Given the description of an element on the screen output the (x, y) to click on. 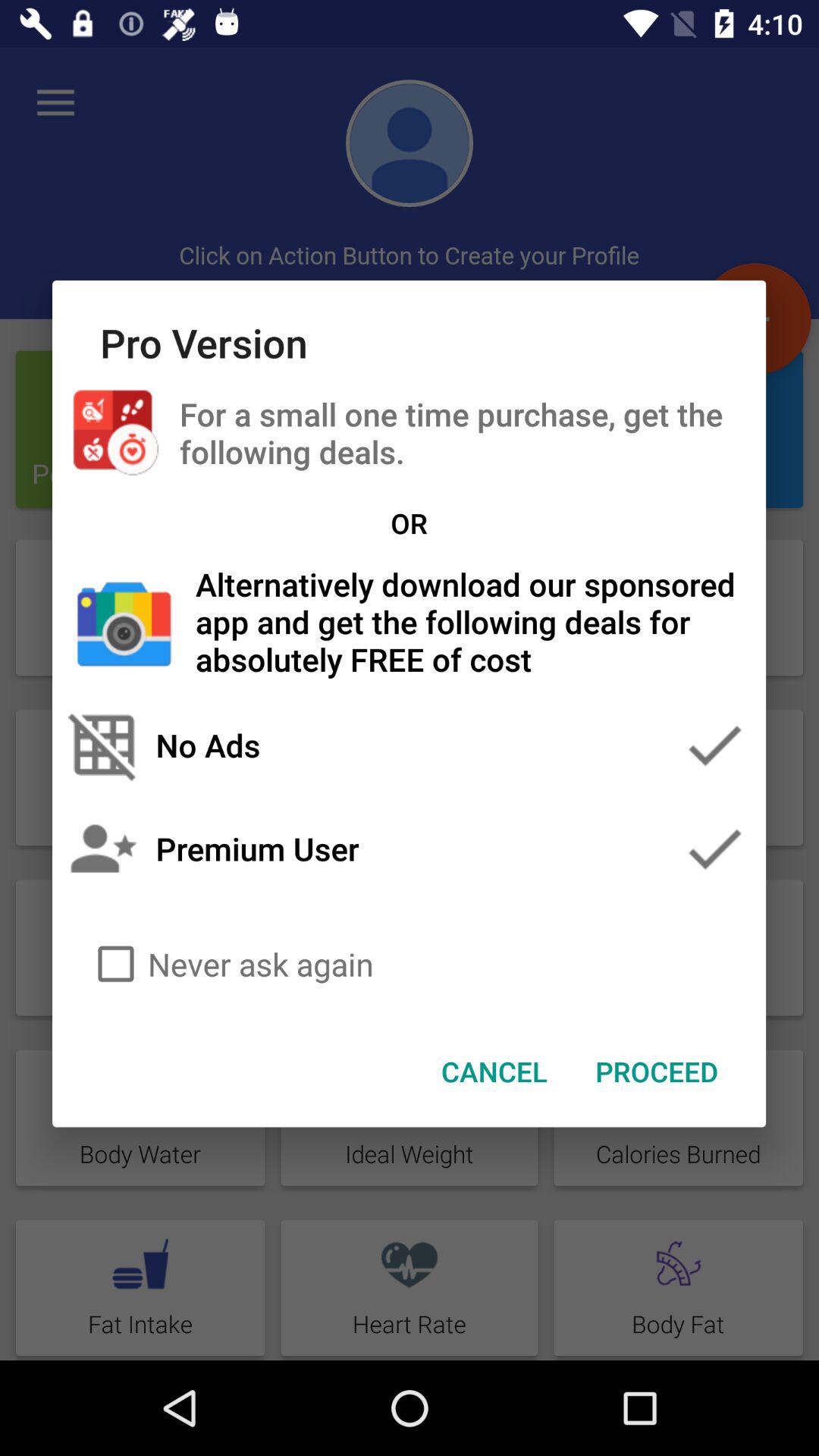
scroll to the cancel (494, 1071)
